Given the description of an element on the screen output the (x, y) to click on. 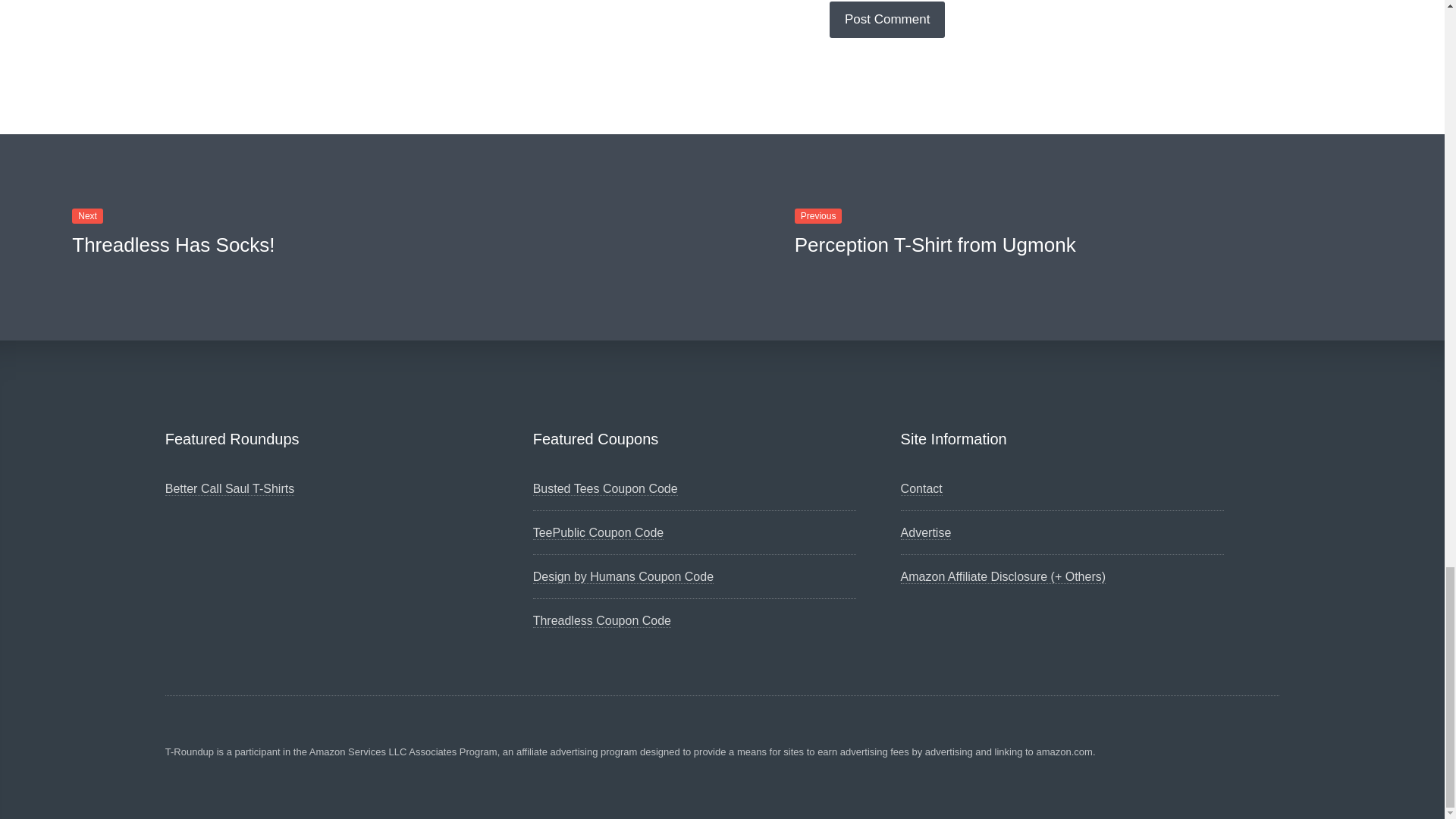
Post Comment (886, 19)
